Given the description of an element on the screen output the (x, y) to click on. 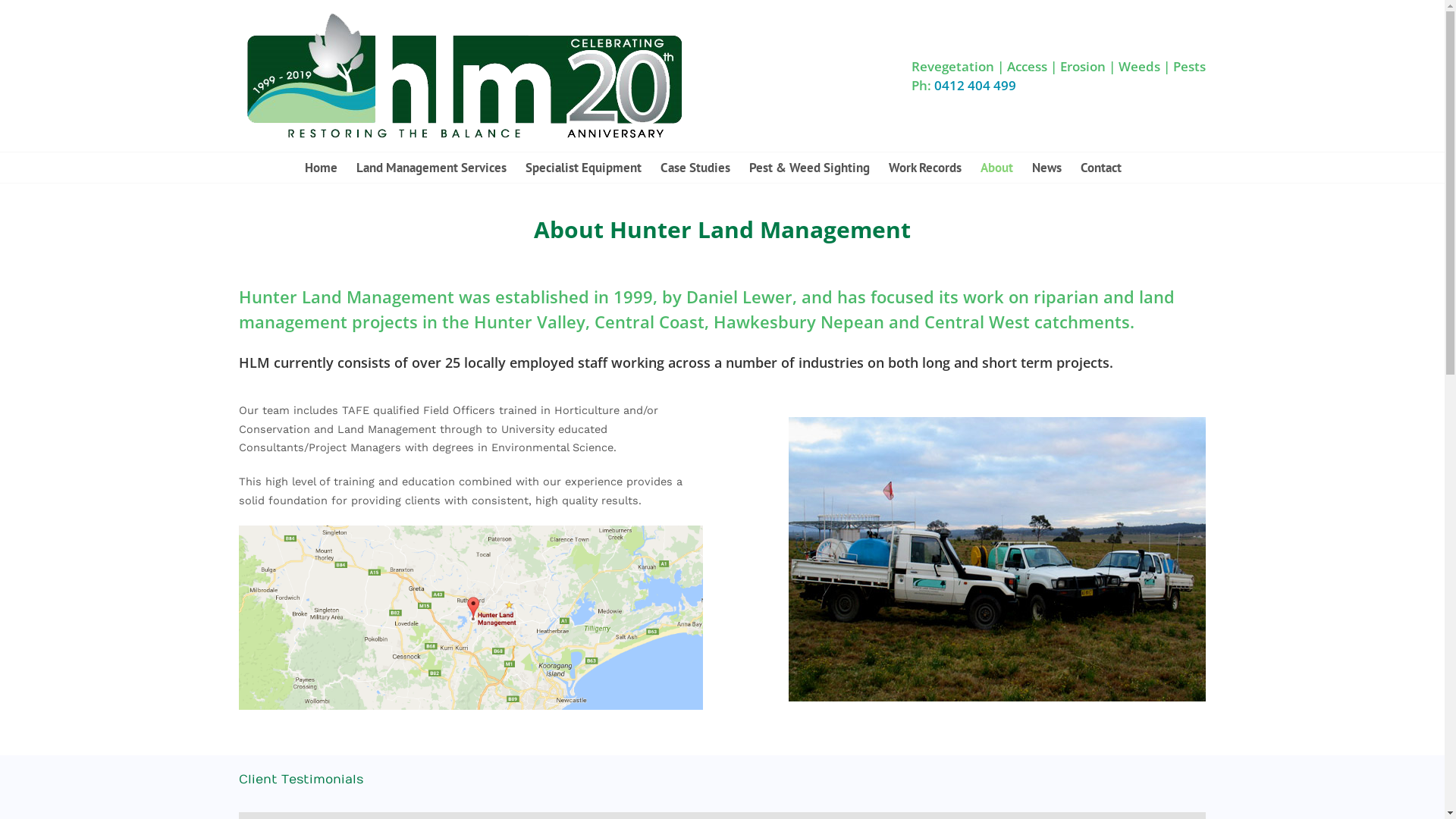
About Element type: text (995, 167)
Case Studies Element type: text (694, 167)
Pest & Weed Sighting Element type: text (809, 167)
Work Records Element type: text (924, 167)
Home Element type: text (320, 167)
0412 404 499 Element type: text (975, 85)
Land Management Services Element type: text (431, 167)
Specialist Equipment Element type: text (582, 167)
News Element type: text (1045, 167)
Contact Element type: text (1099, 167)
